Given the description of an element on the screen output the (x, y) to click on. 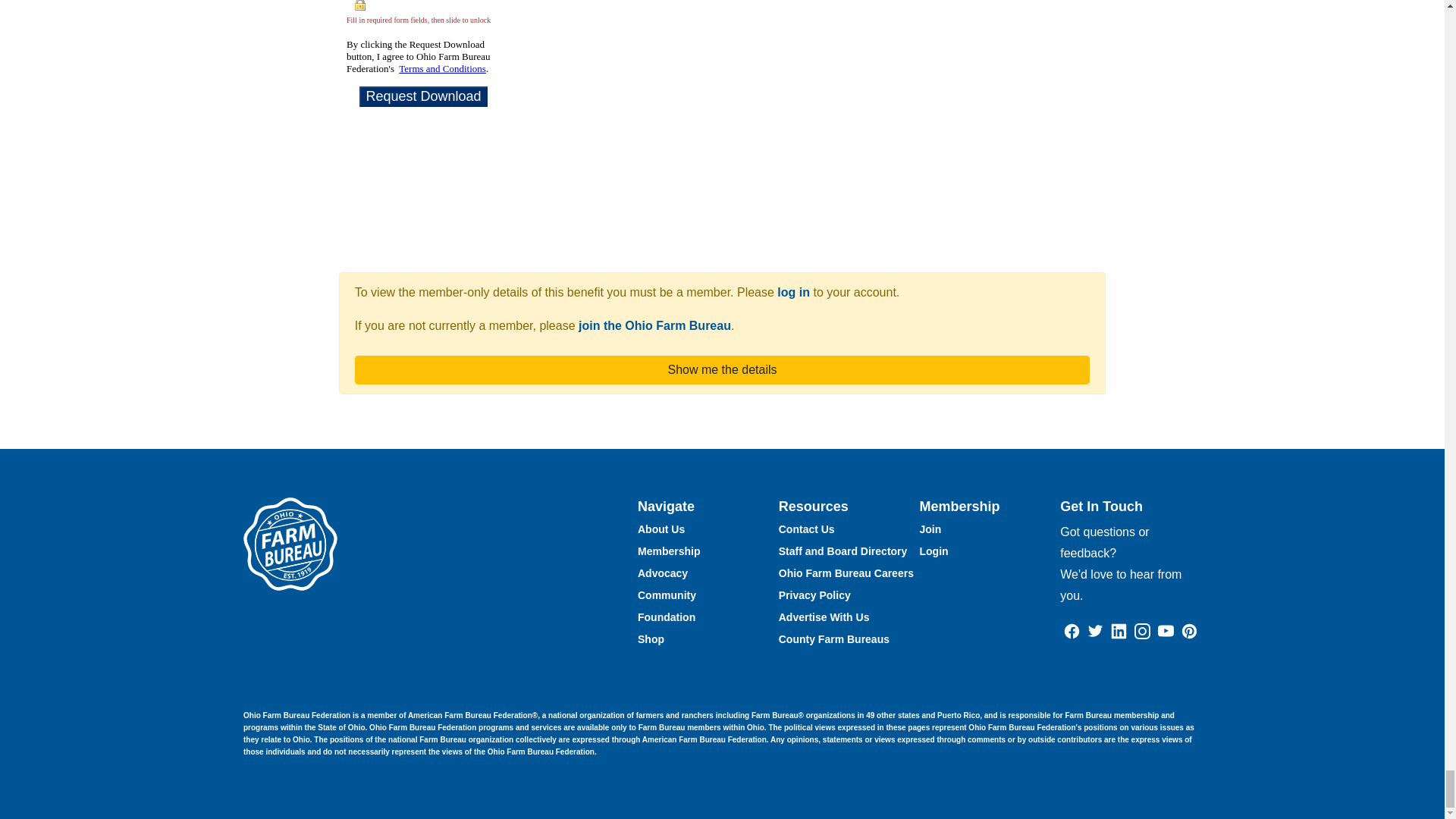
Facebook - Ohio Farm Bureau (1072, 630)
Pinterest - Ohio Farm Bureau (1188, 630)
Instagram - Ohio Farm Bureau (1142, 630)
LinkedIn - Ohio Farm Bureau (1118, 630)
Twitter - Ohio Farm Bureau (1095, 630)
YouTube - Ohio Farm Bureau (1165, 630)
